Given the description of an element on the screen output the (x, y) to click on. 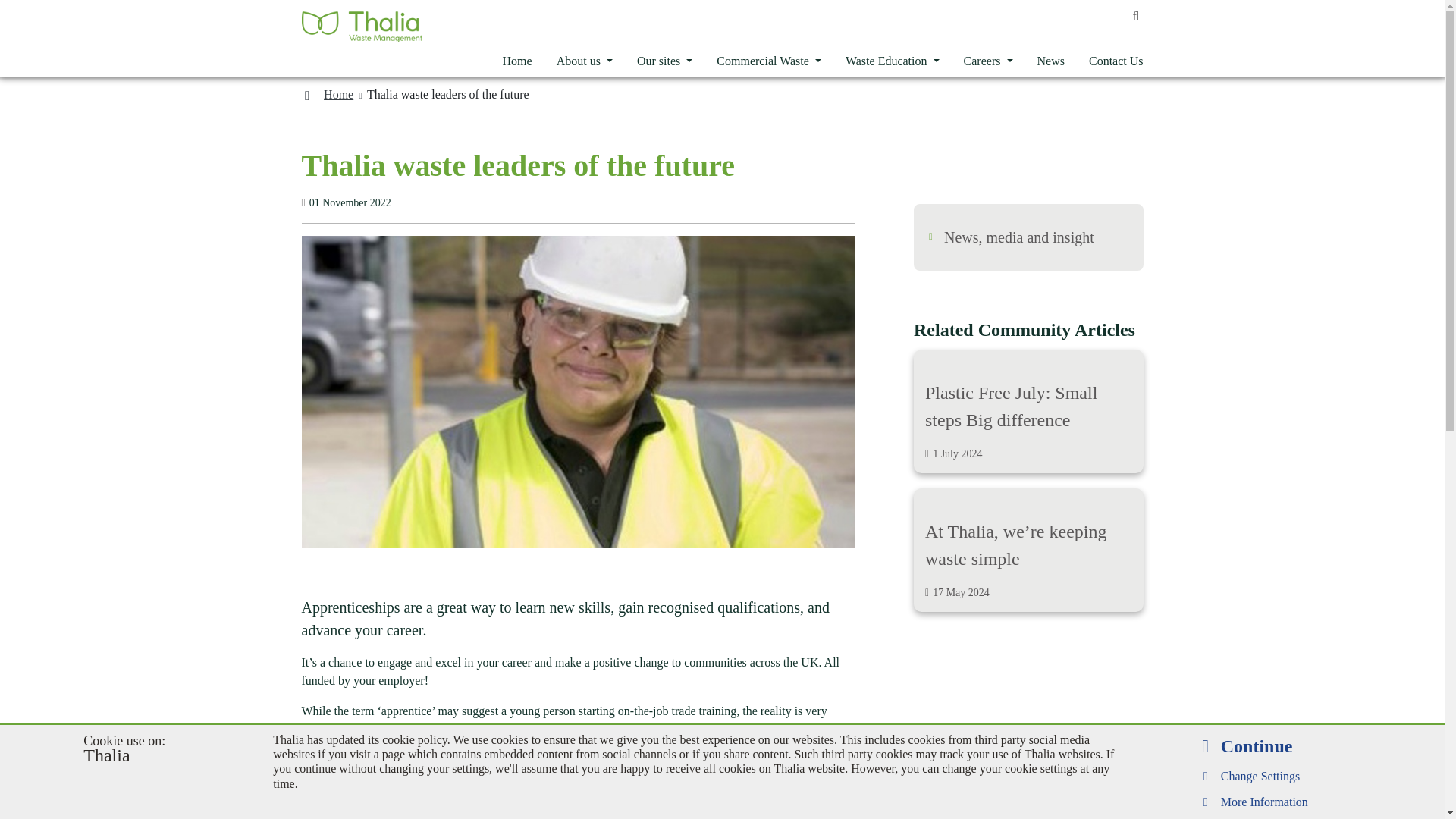
Our sites (664, 60)
About us (584, 60)
News, media and insight (1018, 237)
Commercial Waste (768, 60)
Home (1028, 411)
Home (338, 93)
Careers (517, 60)
Contact Us (988, 60)
Waste Education (1109, 60)
